Given the description of an element on the screen output the (x, y) to click on. 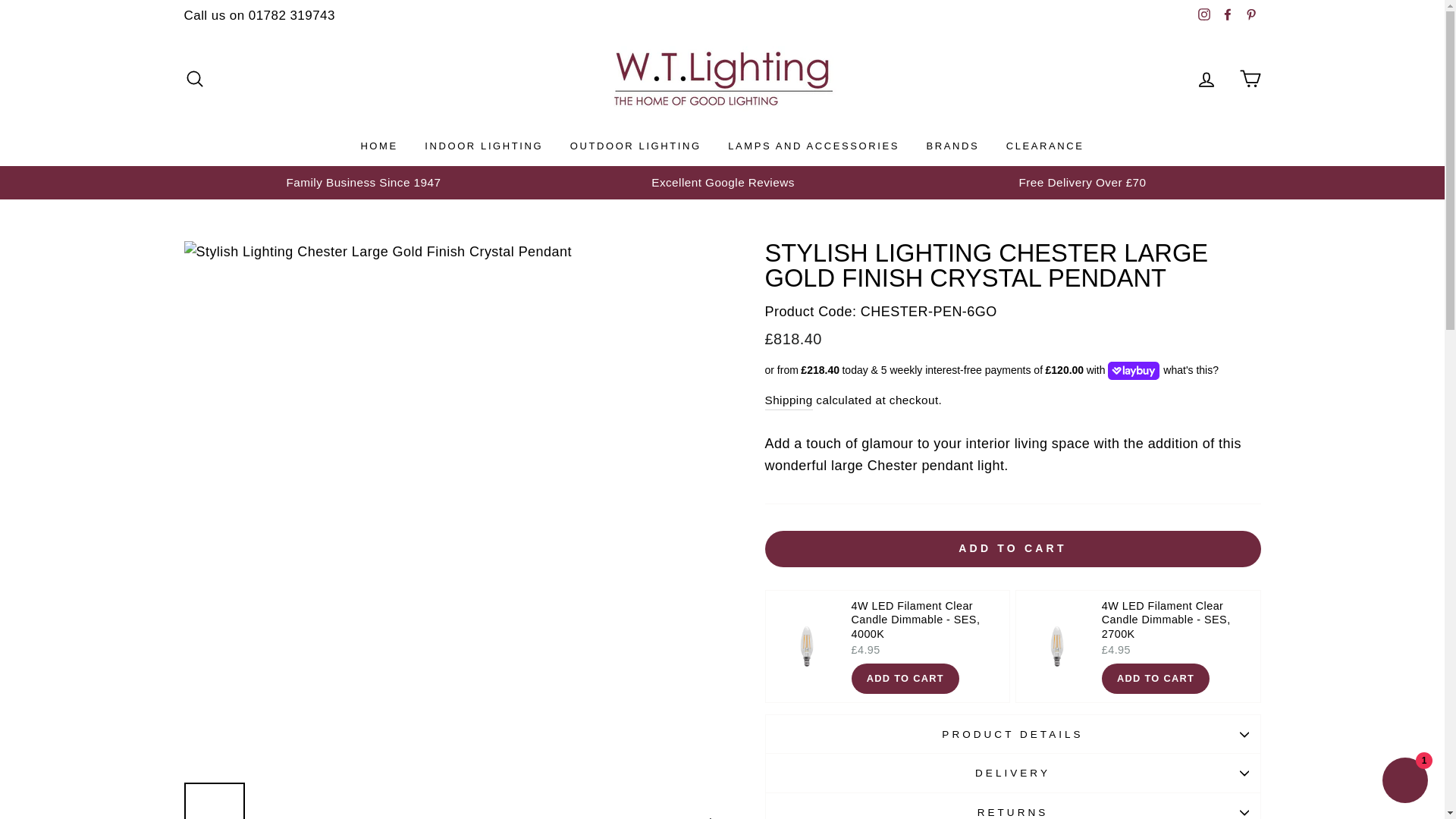
Shopify online store chat (1404, 781)
